Given the description of an element on the screen output the (x, y) to click on. 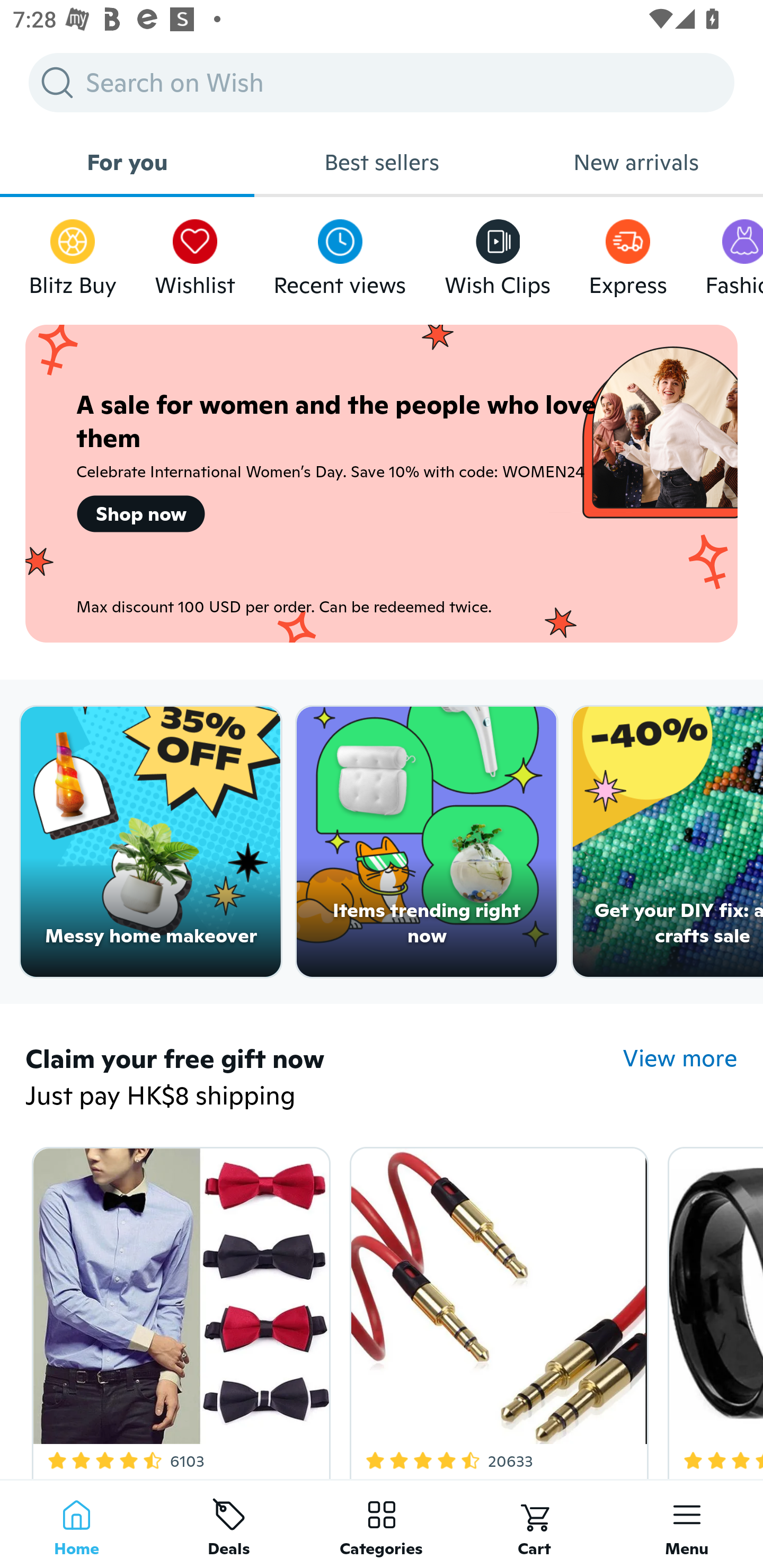
Search on Wish (381, 82)
For you (127, 161)
Best sellers (381, 161)
New arrivals (635, 161)
Blitz Buy (72, 252)
Wishlist (194, 252)
Recent views (339, 252)
Wish Clips (497, 252)
Express (627, 252)
Fashion (734, 252)
Messy home makeover (150, 841)
Items trending right now (426, 841)
Get your DIY fix: arts & crafts sale (668, 841)
Claim your free gift now
Just pay HK$8 shipping (323, 1078)
View more (679, 1058)
4.4 Star Rating 6103 Free (177, 1308)
4.3 Star Rating 20633 Free (495, 1308)
Home (76, 1523)
Deals (228, 1523)
Categories (381, 1523)
Cart (533, 1523)
Menu (686, 1523)
